Given the description of an element on the screen output the (x, y) to click on. 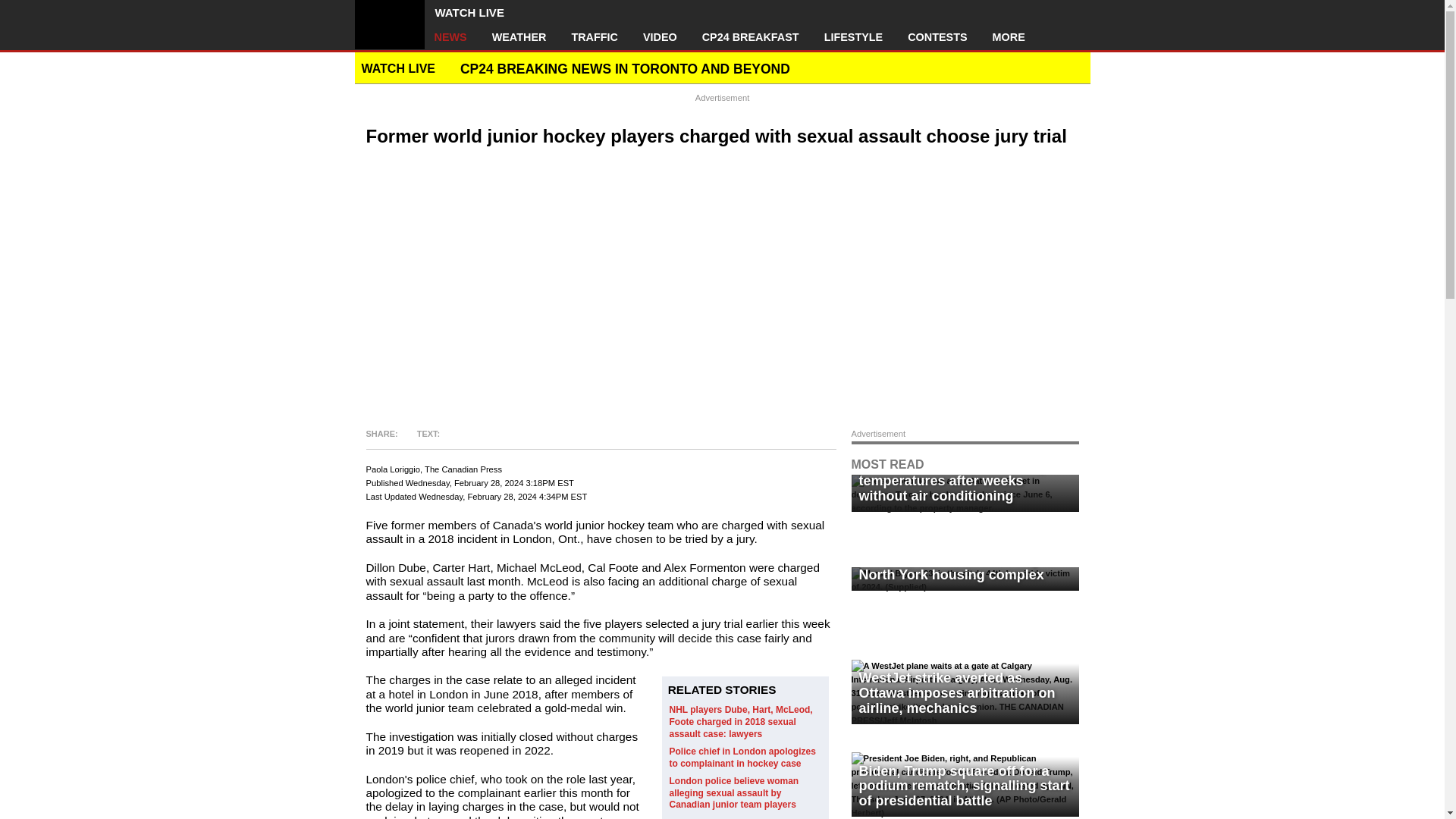
Contests (936, 37)
CONTESTS (936, 37)
WATCH LIVE (477, 11)
CP24.com (390, 24)
Weather (519, 37)
WEATHER (519, 37)
